Given the description of an element on the screen output the (x, y) to click on. 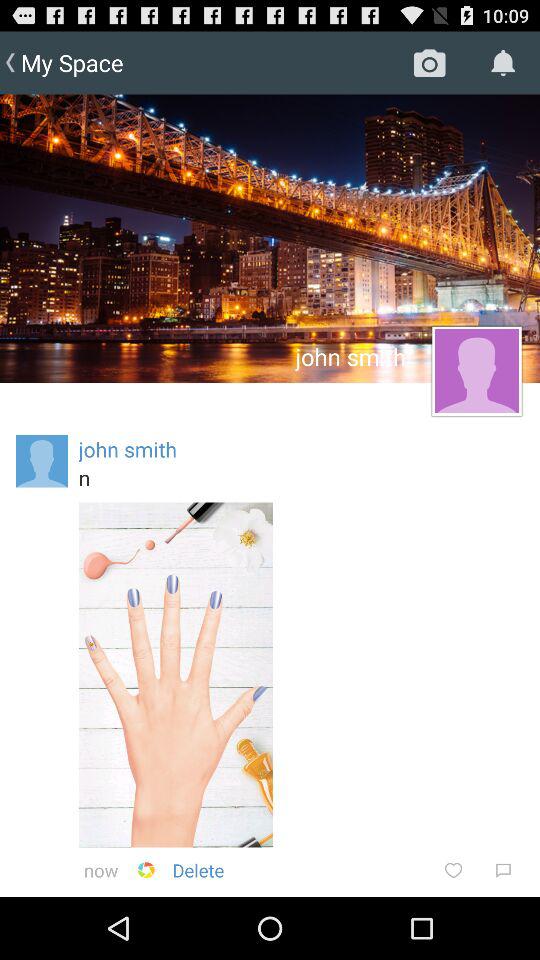
turn off icon below the n item (503, 870)
